Given the description of an element on the screen output the (x, y) to click on. 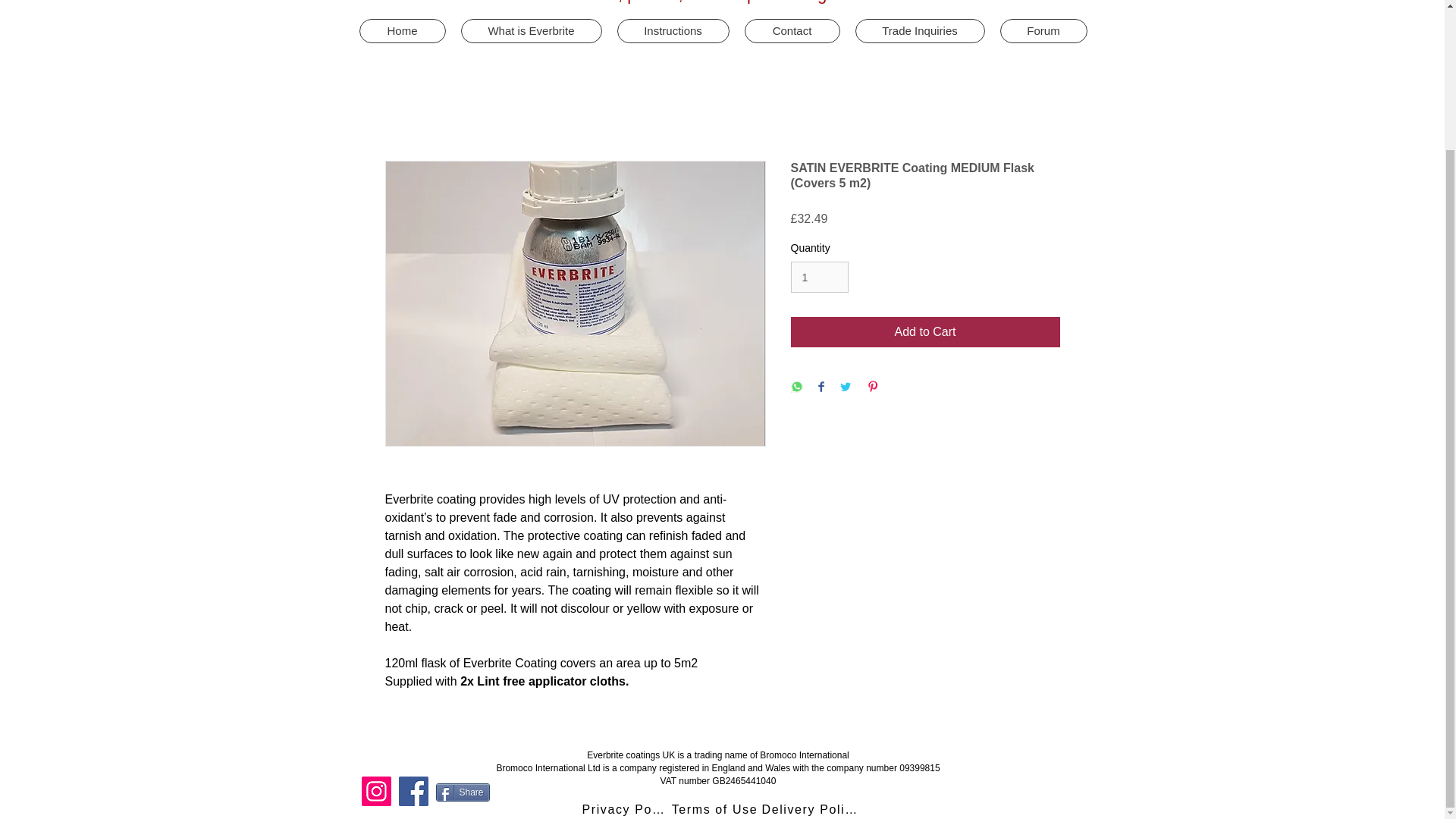
Share (462, 791)
What is Everbrite (531, 30)
Add to Cart (924, 331)
1 (818, 276)
Share (462, 791)
Home (402, 30)
Contact (792, 30)
Trade Inquiries (920, 30)
Forum (1042, 30)
Instructions (673, 30)
